Given the description of an element on the screen output the (x, y) to click on. 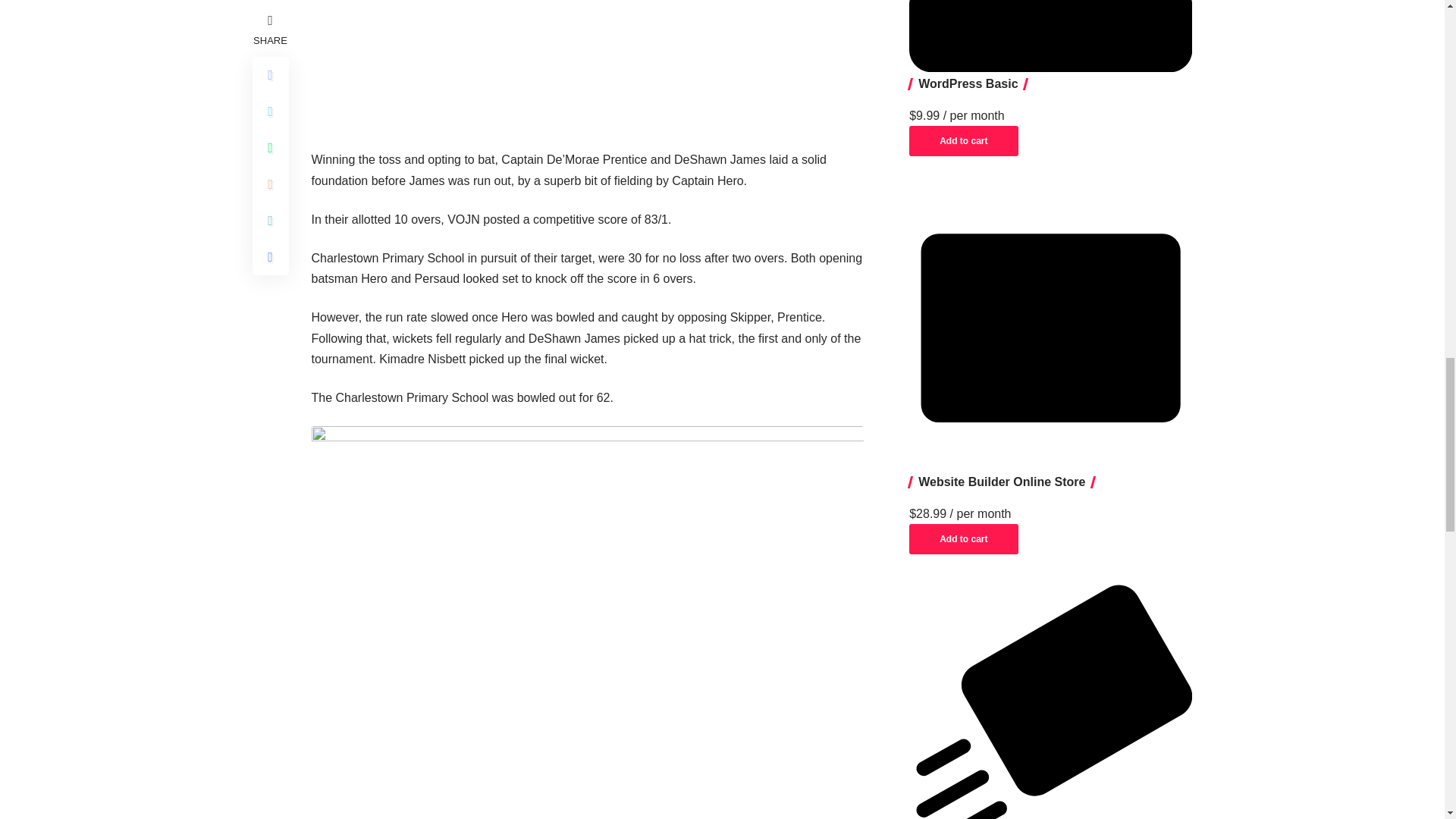
Email Marketing (1050, 701)
Website Builder (1050, 327)
WordPress (1050, 36)
